Given the description of an element on the screen output the (x, y) to click on. 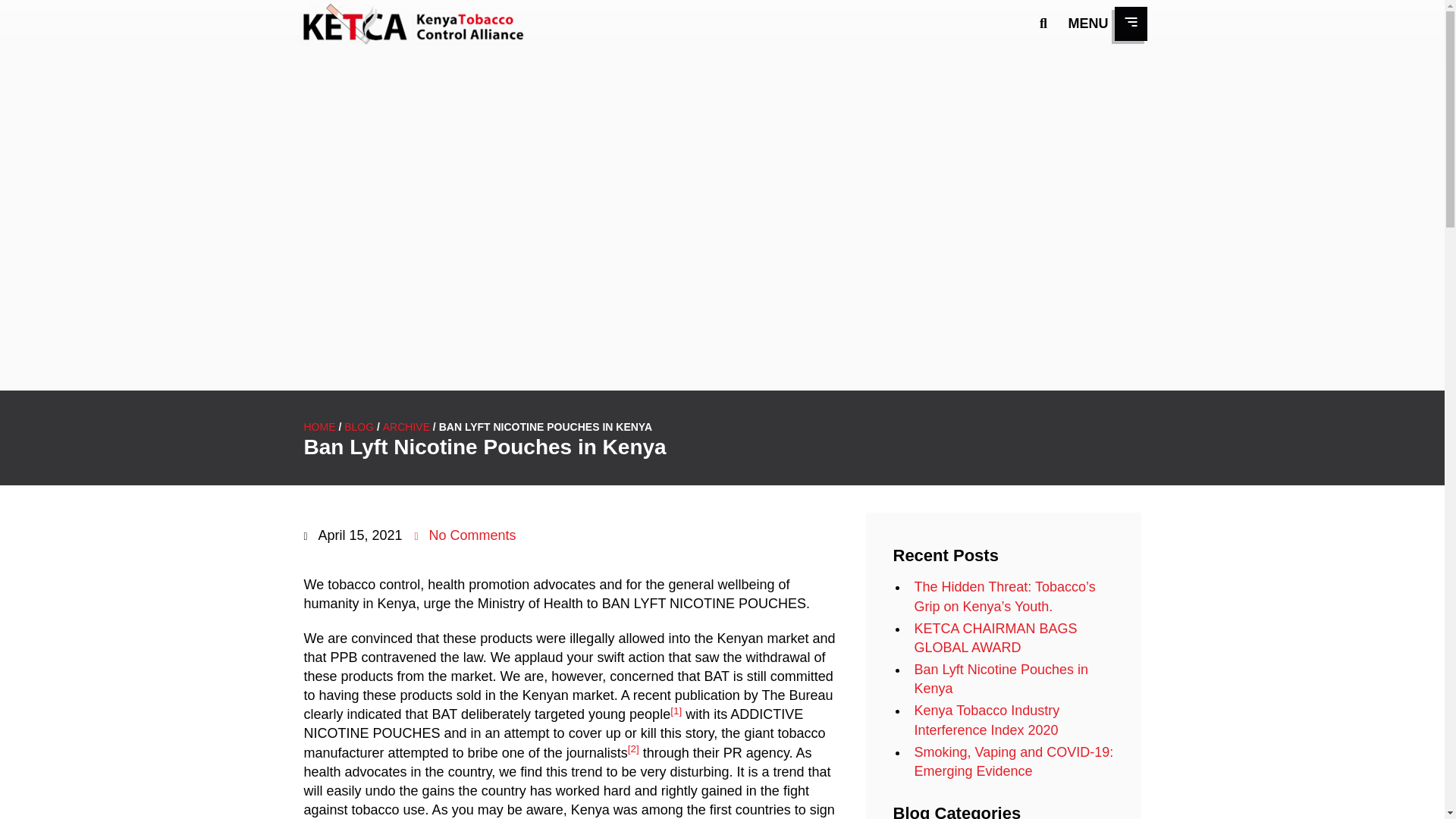
Smoking, Vaping and COVID-19: Emerging Evidence (1013, 761)
Kenya Tobacco Industry Interference Index 2020 (986, 719)
No Comments (465, 535)
Ban Lyft Nicotine Pouches in Kenya (1000, 678)
BLOG (358, 426)
KETCA CHAIRMAN BAGS GLOBAL AWARD (995, 637)
KETCA-logo (410, 24)
ARCHIVE (405, 426)
HOME (318, 426)
